Given the description of an element on the screen output the (x, y) to click on. 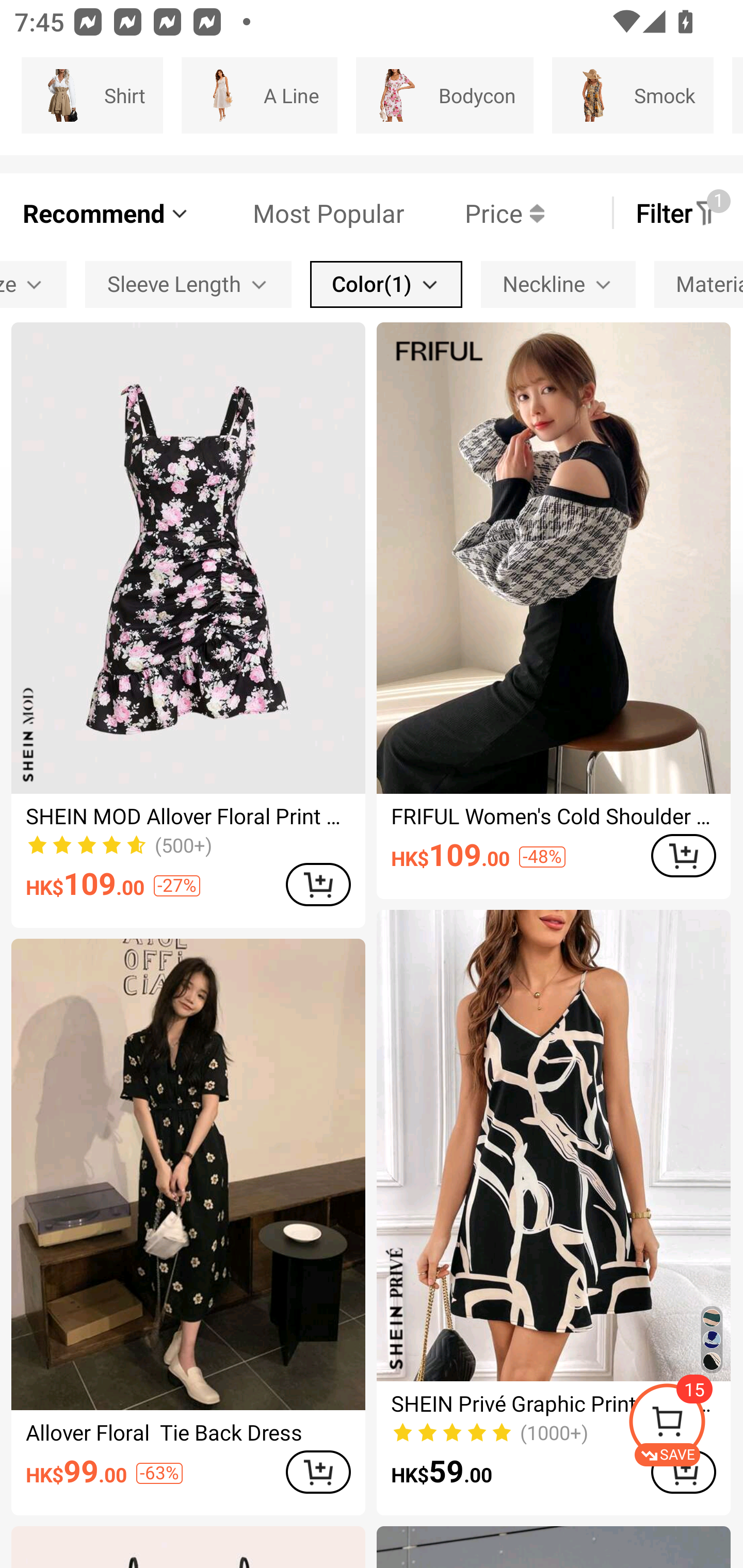
Shirt (91, 95)
A Line (259, 95)
Bodycon (444, 95)
Smock (632, 95)
Recommend (106, 213)
Most Popular (297, 213)
Price (474, 213)
Filter 1 (677, 213)
Sleeve Length (188, 283)
Color(1) (385, 283)
Neckline (558, 283)
Material (698, 283)
ADD TO CART (683, 856)
ADD TO CART (318, 884)
SAVE (685, 1424)
ADD TO CART (318, 1472)
